Given the description of an element on the screen output the (x, y) to click on. 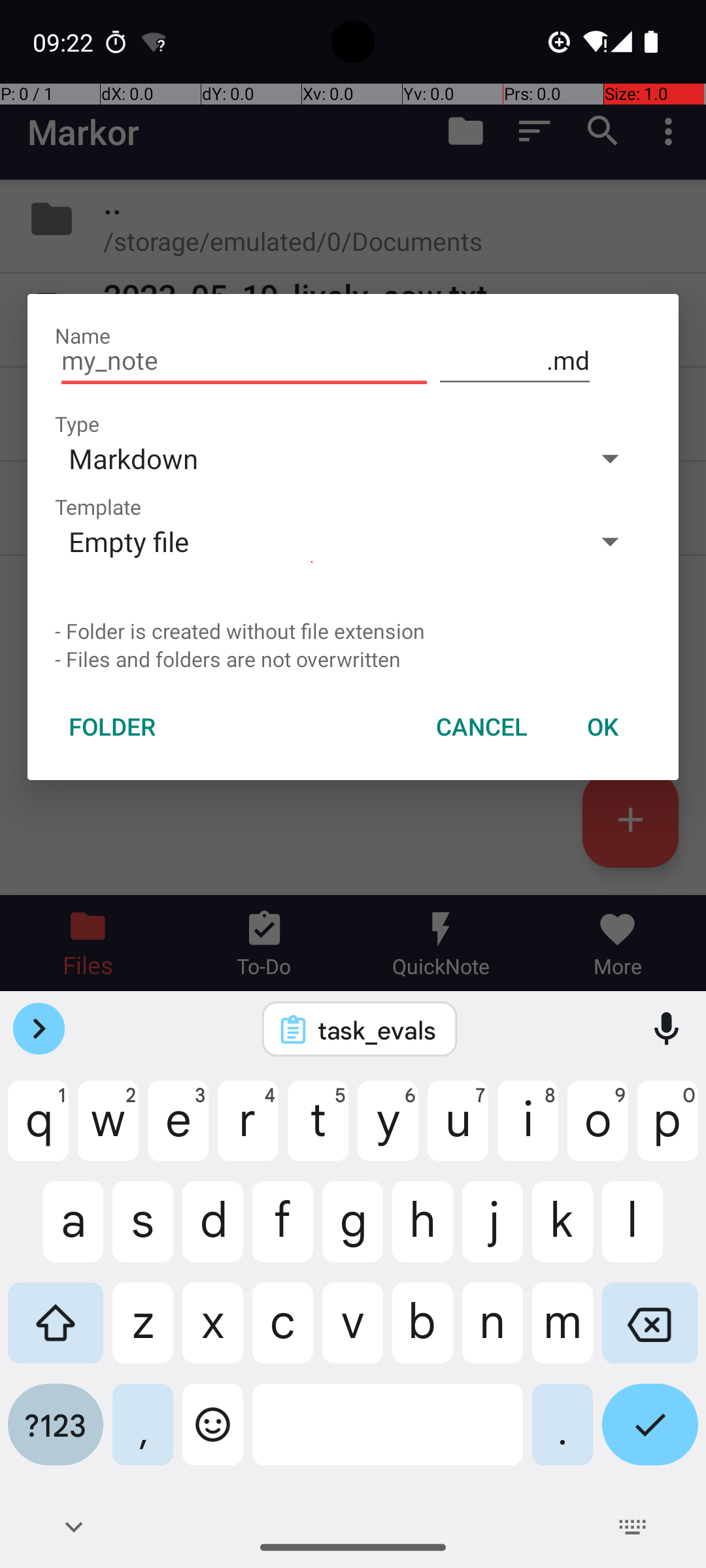
task_evals Element type: android.widget.TextView (376, 1029)
09:22 Element type: android.widget.TextView (64, 41)
